Given the description of an element on the screen output the (x, y) to click on. 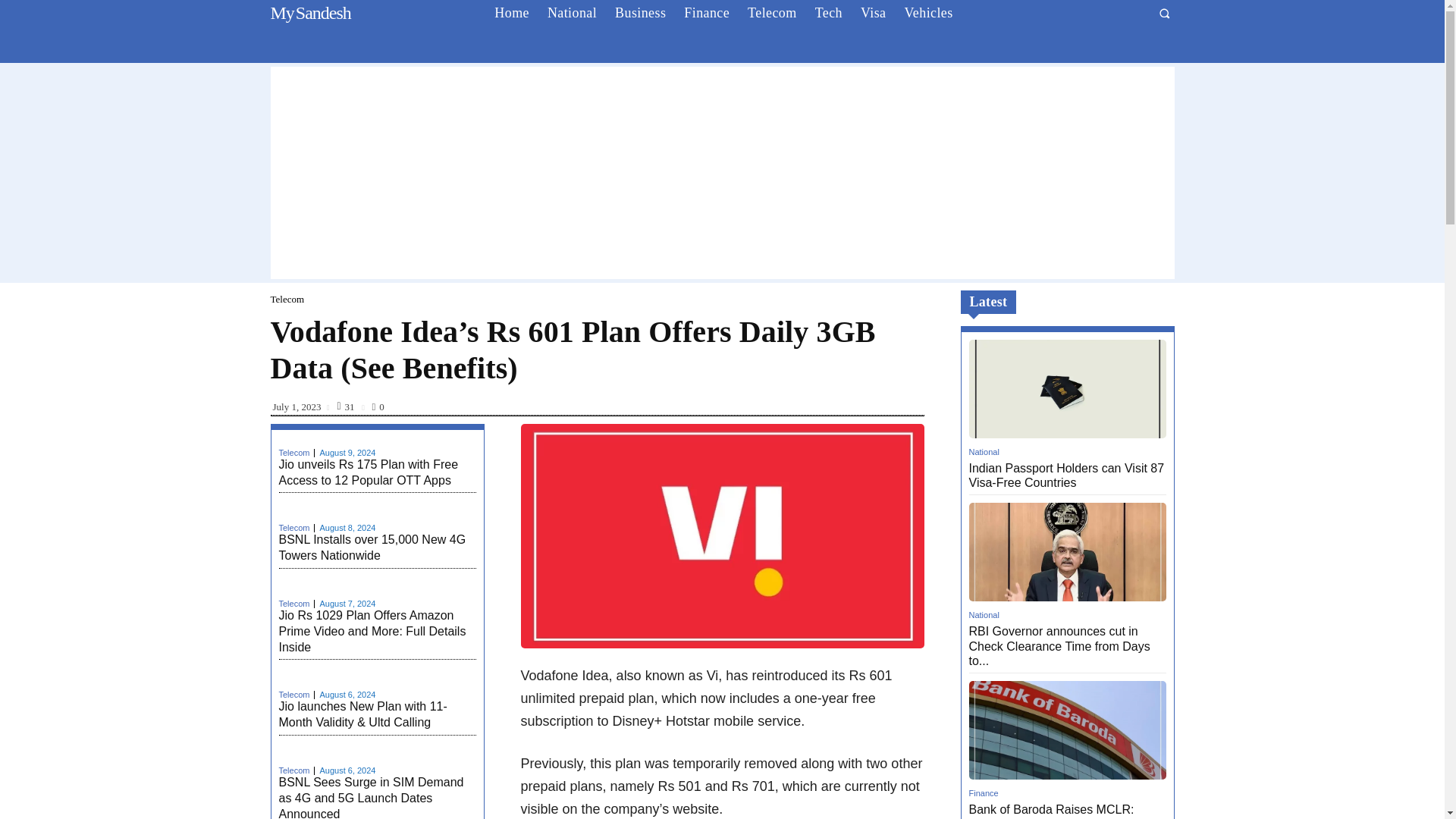
Tech (828, 12)
Home (511, 12)
Vehicles (307, 12)
BSNL Installs over 15,000 New 4G Towers Nationwide (927, 12)
Telecom (372, 547)
Telecom (297, 603)
Telecom (772, 12)
BSNL Installs over 15,000 New 4G Towers Nationwide (286, 298)
National (372, 547)
